Given the description of an element on the screen output the (x, y) to click on. 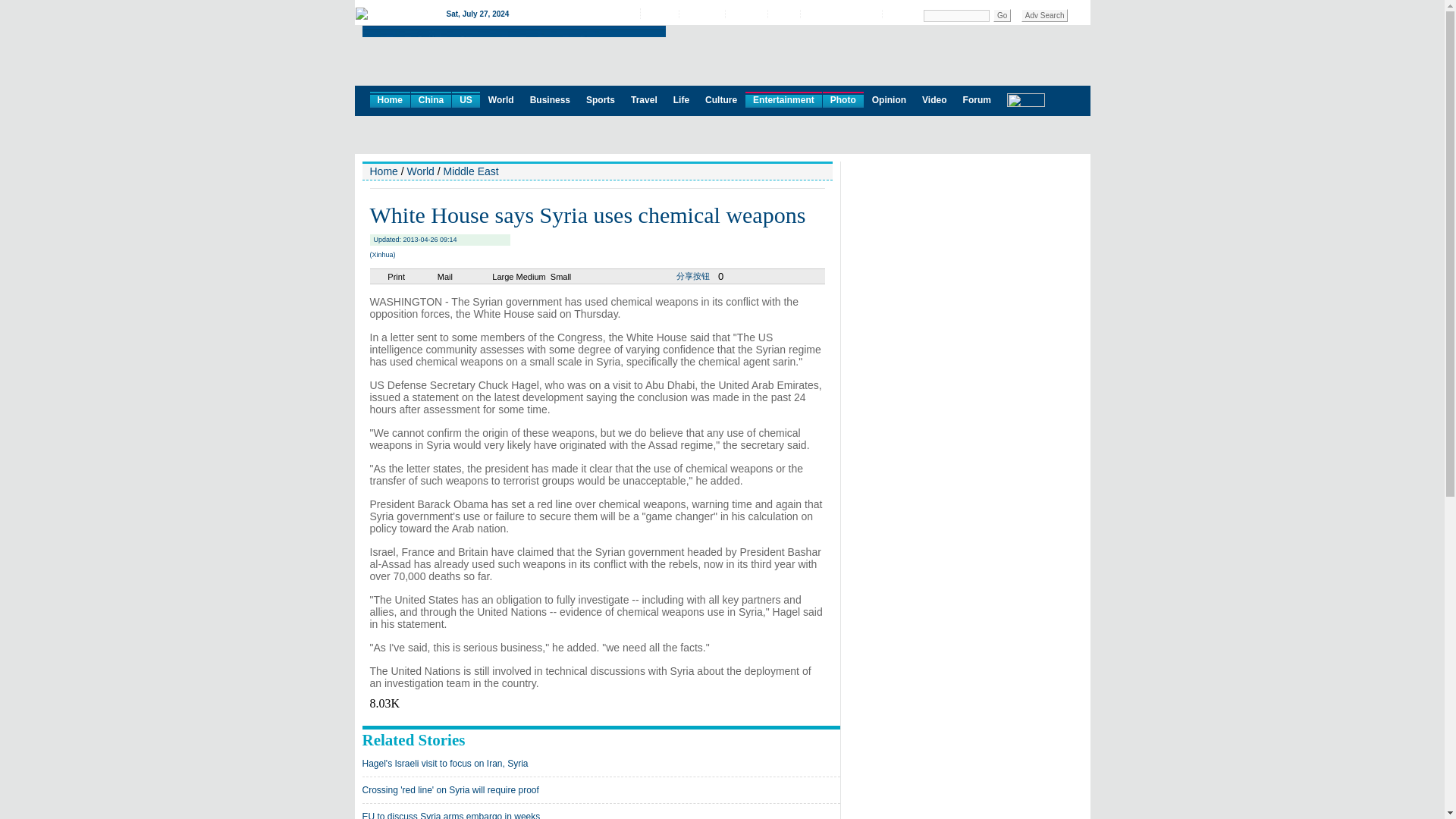
Travel (644, 99)
Sports (600, 99)
Business (550, 99)
World (500, 99)
Home (389, 99)
China (430, 99)
US (465, 99)
